Given the description of an element on the screen output the (x, y) to click on. 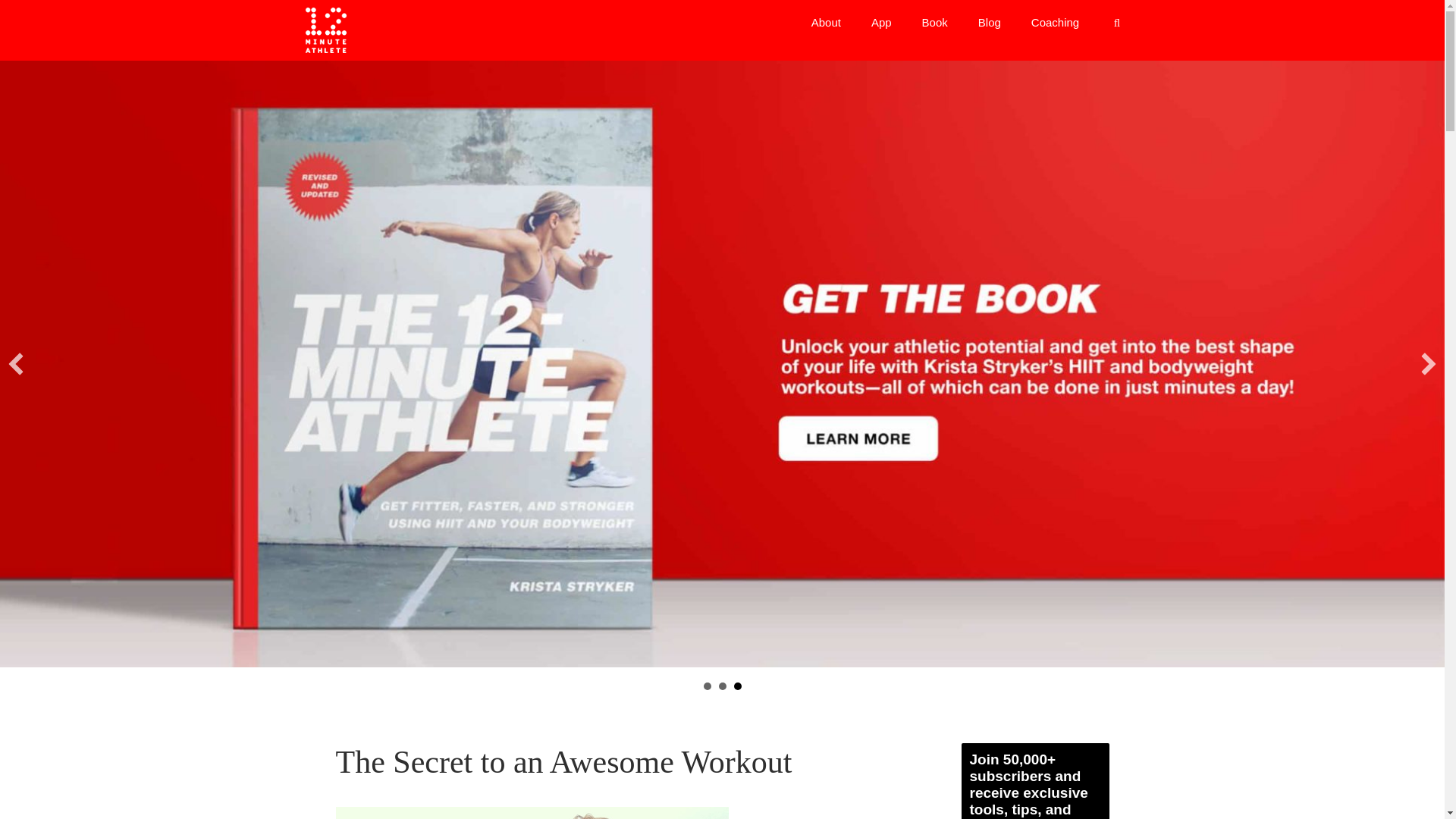
Coaching (1055, 22)
2 (722, 686)
Blog (989, 22)
App (881, 22)
Book (934, 22)
About (826, 22)
12 Minute Athlete (325, 30)
3 (737, 686)
1 (707, 686)
